Given the description of an element on the screen output the (x, y) to click on. 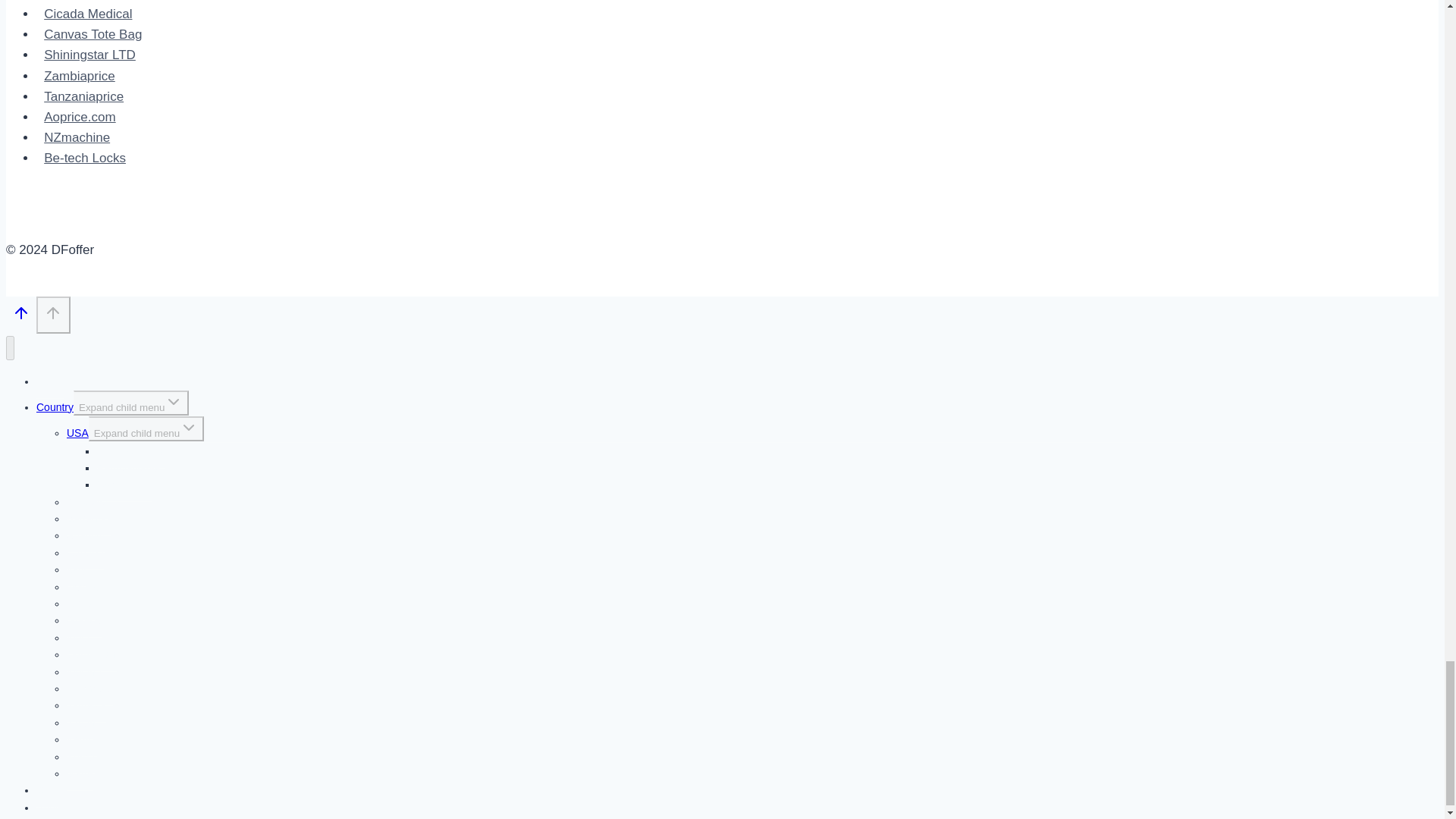
Aoprice.com (79, 116)
Shiningstar LTD (89, 54)
Zambiaprice (79, 75)
Expand (173, 402)
Scroll to top (52, 312)
Tanzaniaprice (83, 96)
Expand (188, 427)
Scroll to top (20, 316)
Scroll to top (20, 312)
Cicada Medical (87, 13)
Canvas Tote Bag (92, 34)
Scroll to top (52, 314)
